Given the description of an element on the screen output the (x, y) to click on. 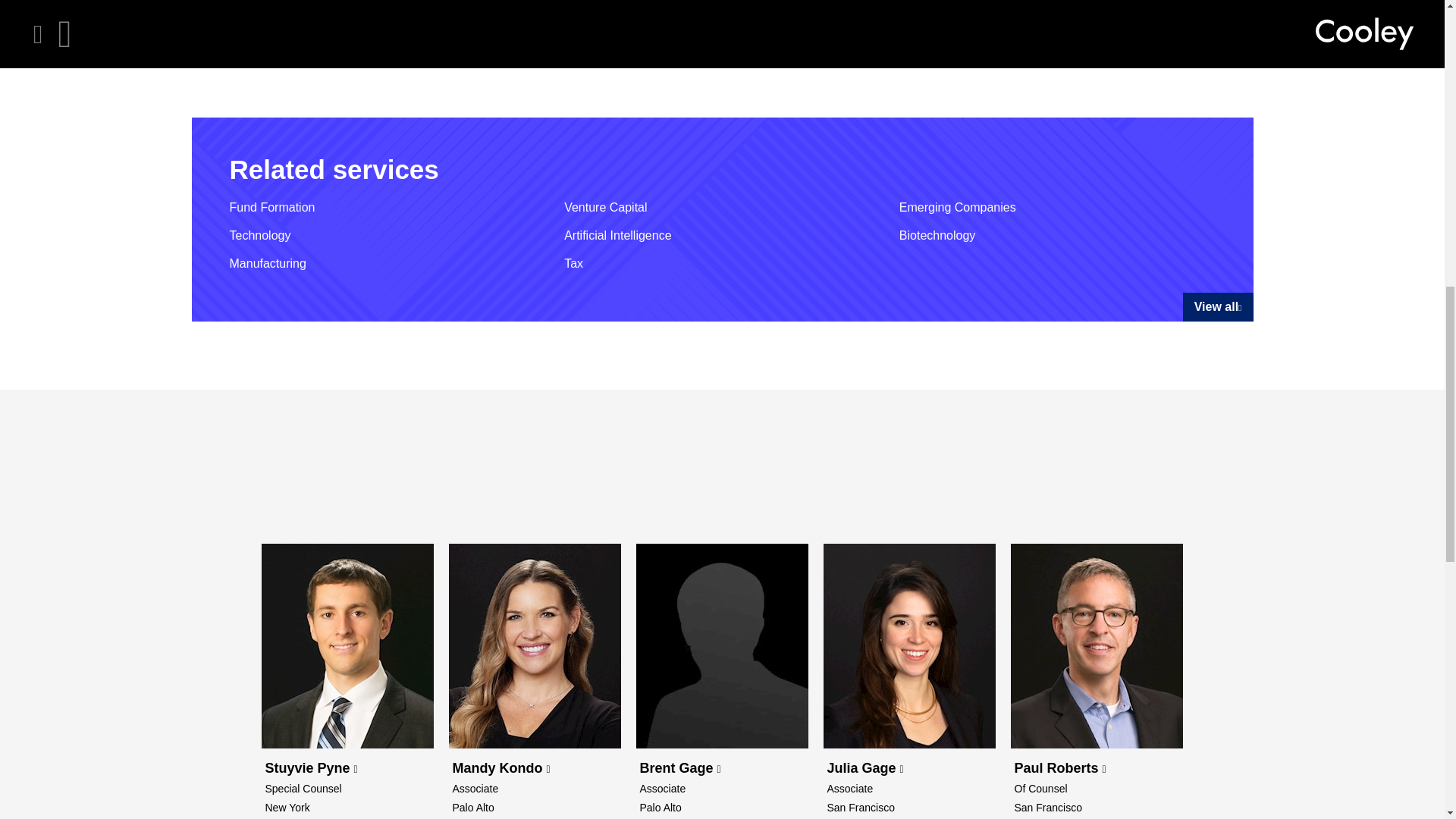
Brent Gage (680, 767)
View all (1217, 306)
Artificial Intelligence (617, 235)
Technology (258, 235)
Manufacturing (266, 263)
Fund Formation (271, 207)
Mandy Kondo (500, 767)
Emerging Companies (957, 207)
Tax (573, 263)
Venture Capital (605, 207)
